Given the description of an element on the screen output the (x, y) to click on. 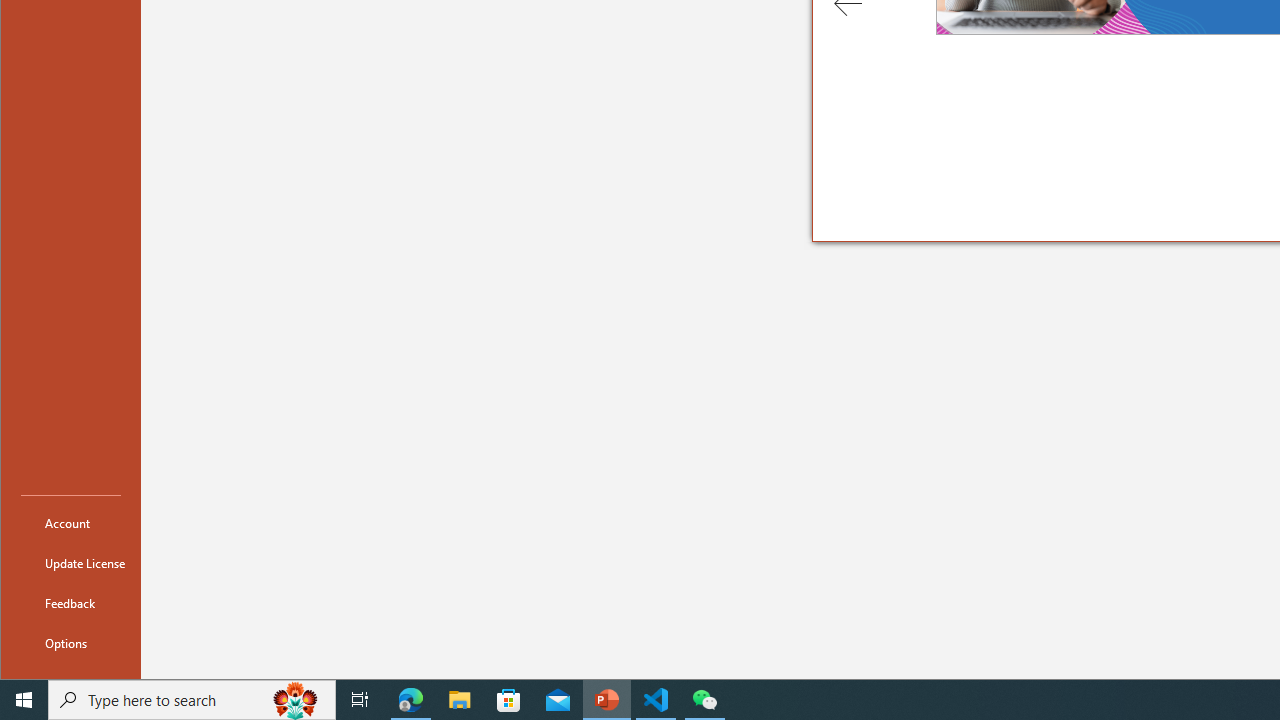
PowerPoint - 1 running window (607, 699)
Start (24, 699)
Options (70, 642)
Search highlights icon opens search home window (295, 699)
Microsoft Store (509, 699)
Task View (359, 699)
Visual Studio Code - 1 running window (656, 699)
Account (70, 522)
WeChat - 1 running window (704, 699)
Type here to search (191, 699)
File Explorer (460, 699)
Update License (70, 562)
Feedback (70, 602)
Microsoft Edge - 1 running window (411, 699)
